Given the description of an element on the screen output the (x, y) to click on. 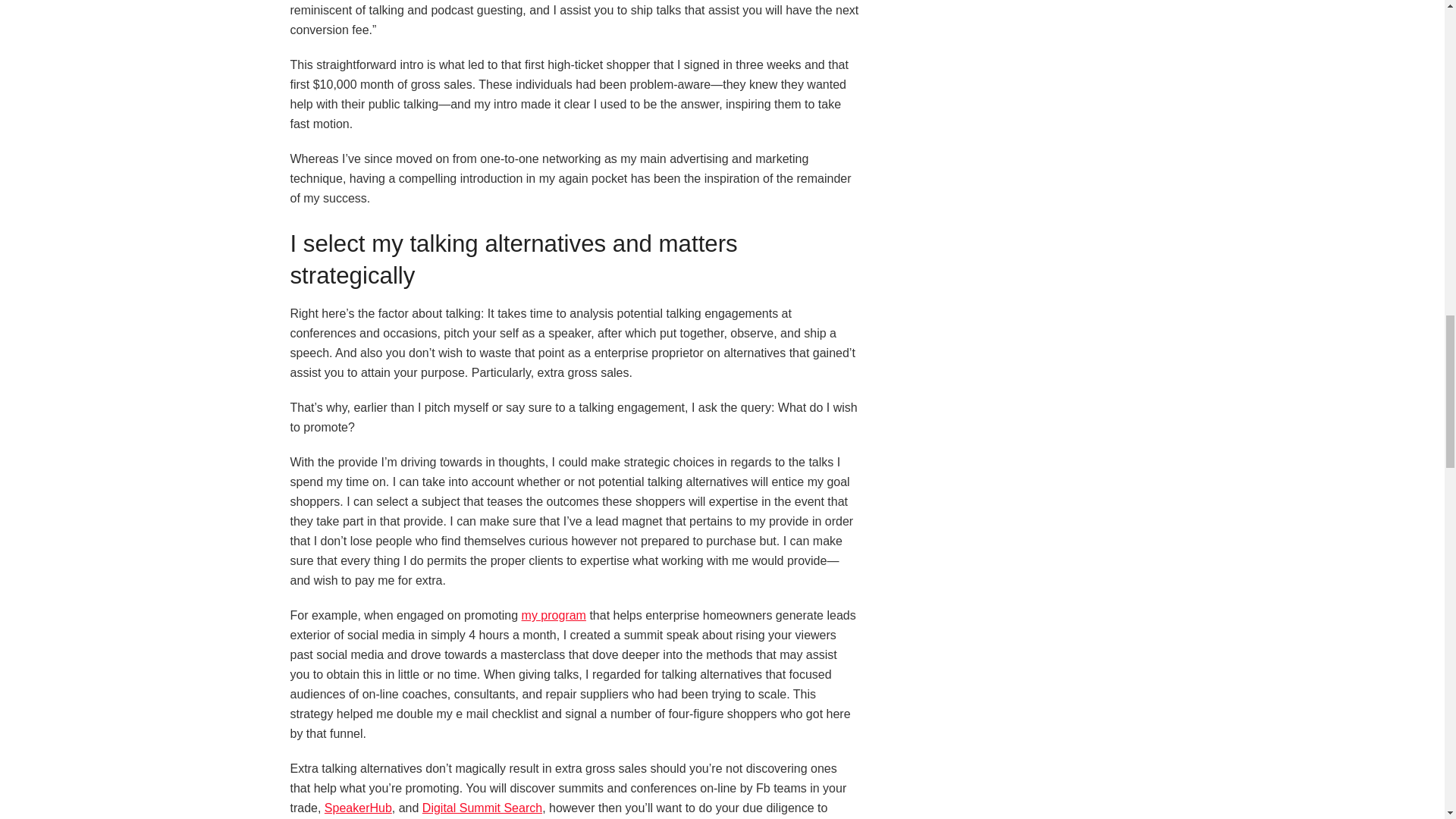
SpeakerHub (357, 807)
Digital Summit Search (481, 807)
my program (553, 615)
